Given the description of an element on the screen output the (x, y) to click on. 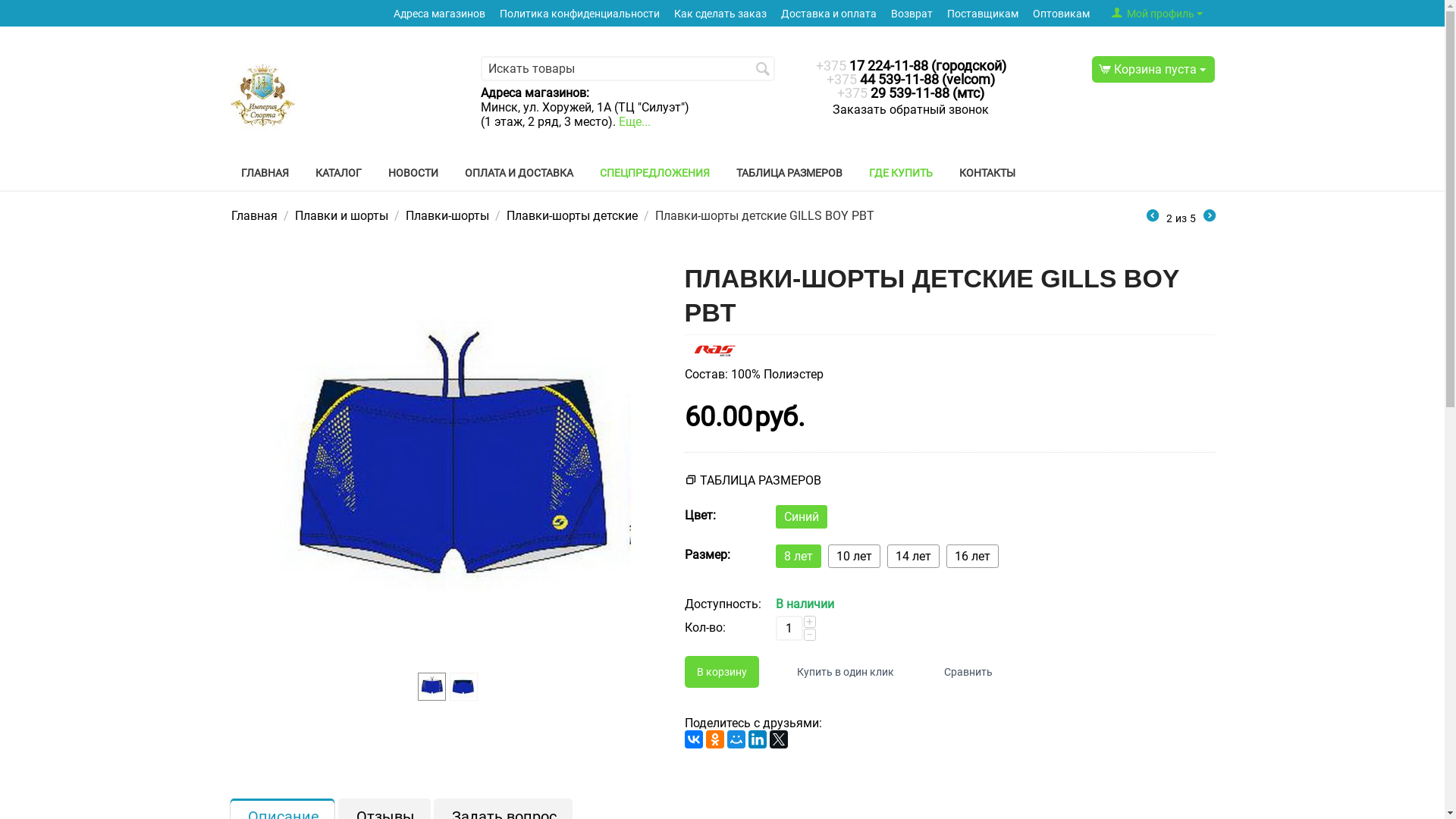
+ Element type: text (809, 621)
2162 Element type: text (4, 4)
Twitter Element type: hover (777, 739)
LinkedIn Element type: hover (756, 739)
